Given the description of an element on the screen output the (x, y) to click on. 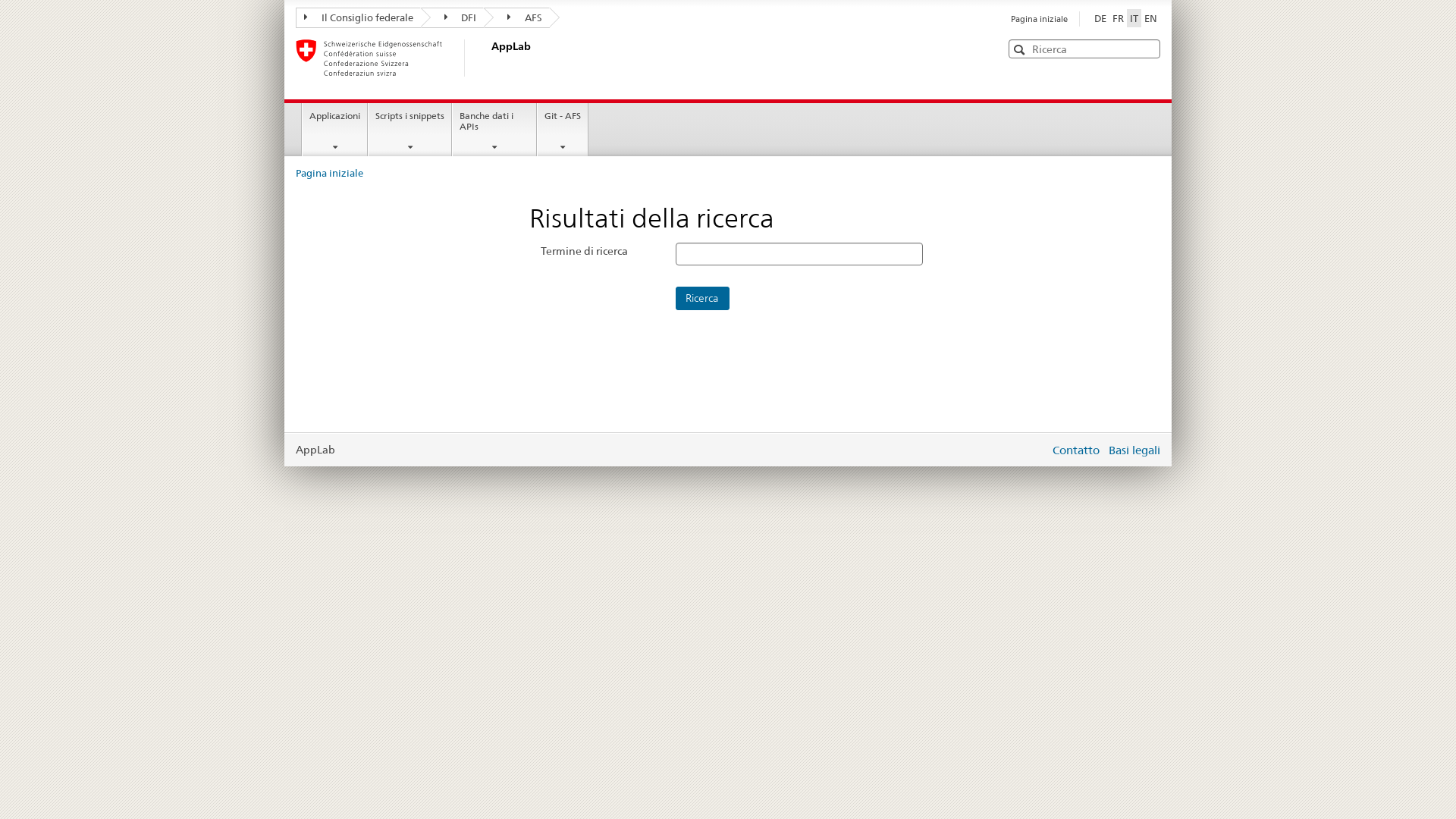
DFI Element type: text (451, 17)
Git - AFS Element type: text (562, 129)
Contatto Element type: text (1075, 449)
Banche dati i APIs Element type: text (494, 129)
DE Element type: text (1100, 18)
EN Element type: text (1150, 18)
FR Element type: text (1117, 18)
AFS Element type: text (516, 17)
Applicazioni Element type: text (334, 129)
Il Consiglio federale Element type: text (357, 17)
Pagina iniziale Element type: text (329, 172)
Suche Element type: text (1020, 49)
Scripts i snippets Element type: text (409, 129)
Pagina iniziale Element type: text (1038, 18)
IT Element type: text (1133, 18)
AppLab Element type: text (511, 57)
Ricerca Element type: text (702, 298)
Basi legali Element type: text (1134, 449)
